Given the description of an element on the screen output the (x, y) to click on. 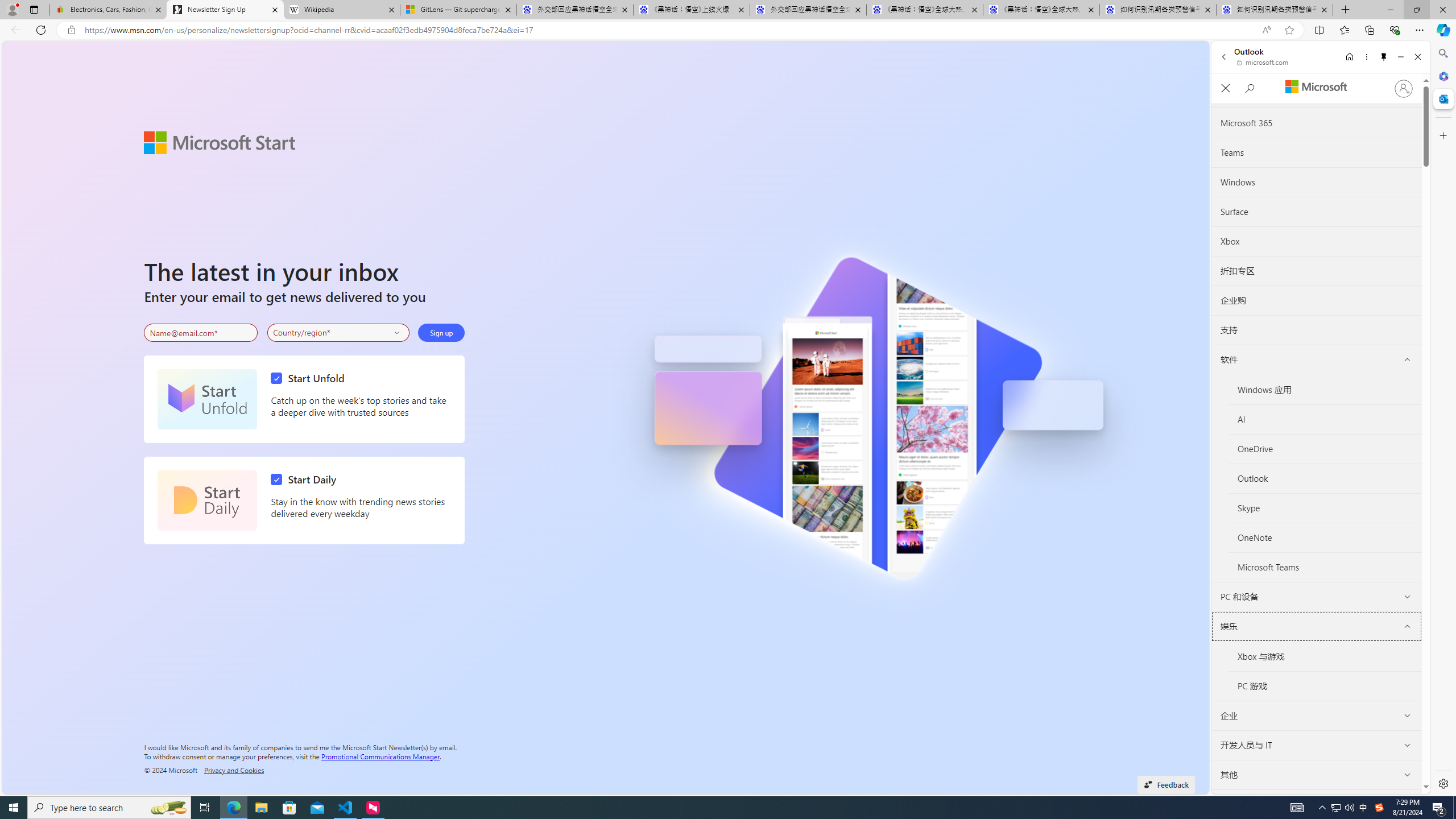
Teams (1316, 152)
microsoft.com (1263, 61)
OneDrive (1324, 448)
Enter your email (200, 332)
AI (1324, 419)
Sign up (441, 332)
